Given the description of an element on the screen output the (x, y) to click on. 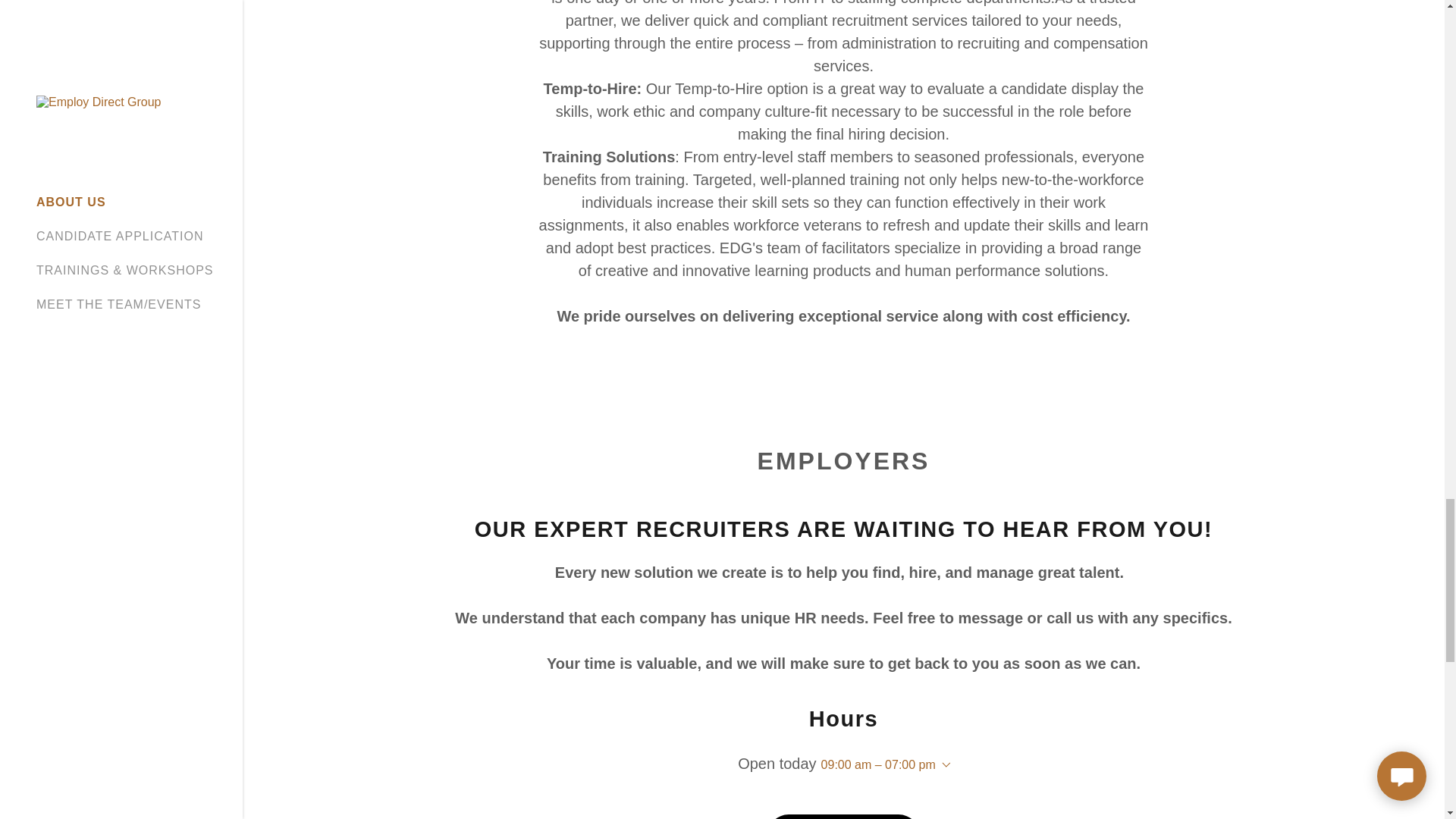
CONTACT US (843, 816)
